Given the description of an element on the screen output the (x, y) to click on. 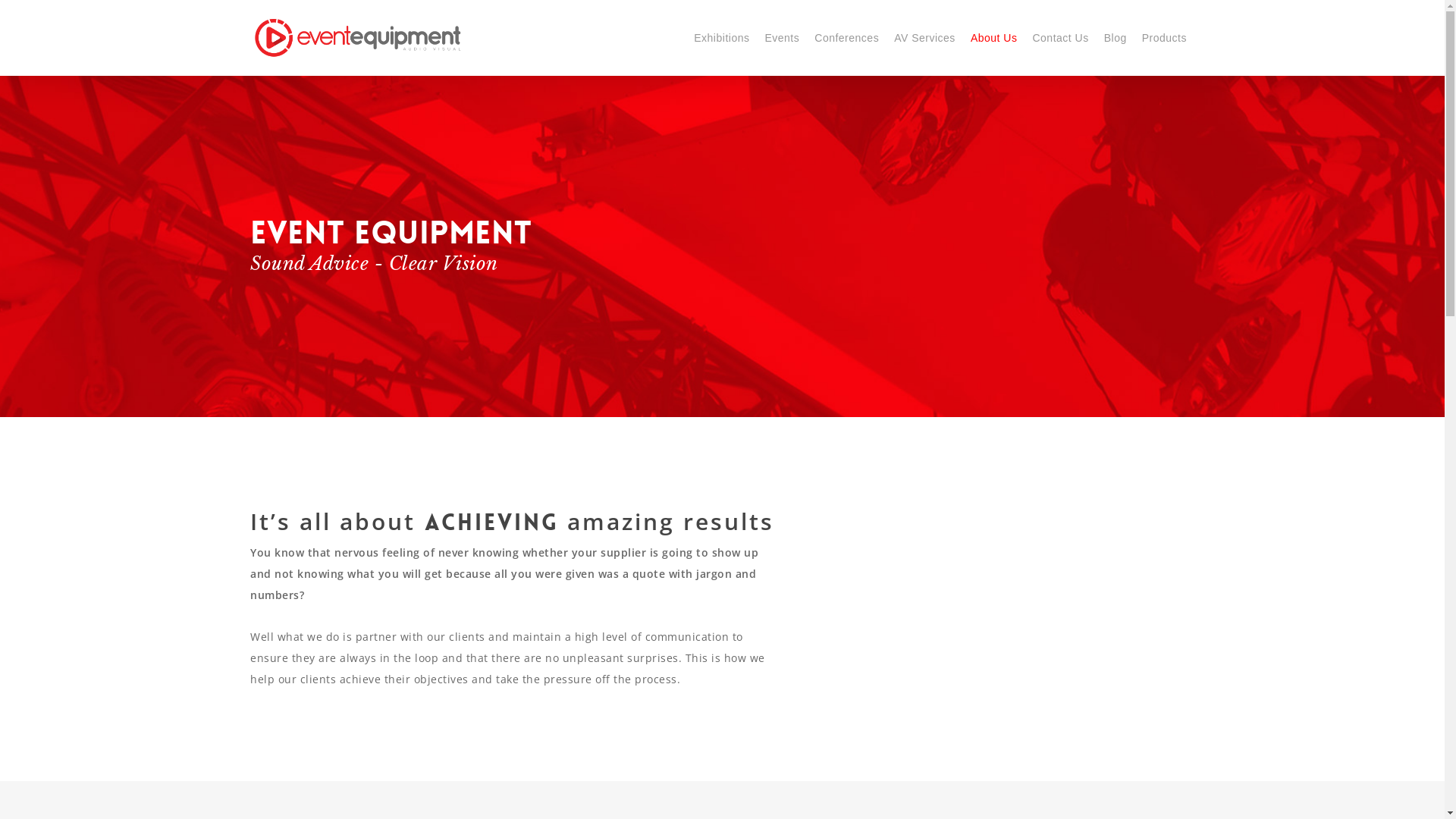
Exhibitions Element type: text (721, 37)
Blog Element type: text (1115, 37)
Contact Us Element type: text (1059, 37)
AV Services Element type: text (924, 37)
Products Element type: text (1164, 37)
Conferences Element type: text (846, 37)
Events Element type: text (781, 37)
About Us Element type: text (994, 37)
